Given the description of an element on the screen output the (x, y) to click on. 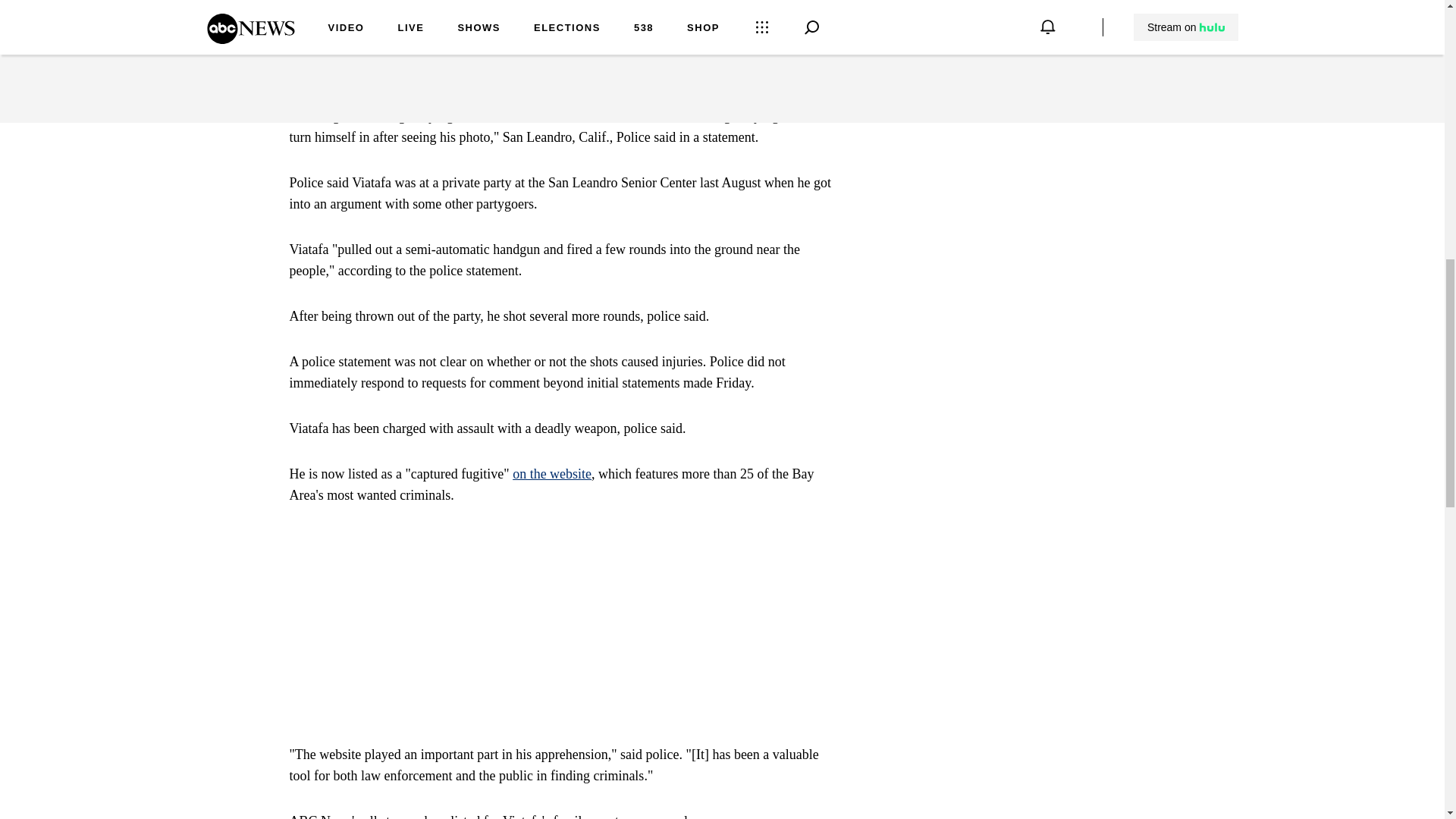
on the website (551, 473)
